Given the description of an element on the screen output the (x, y) to click on. 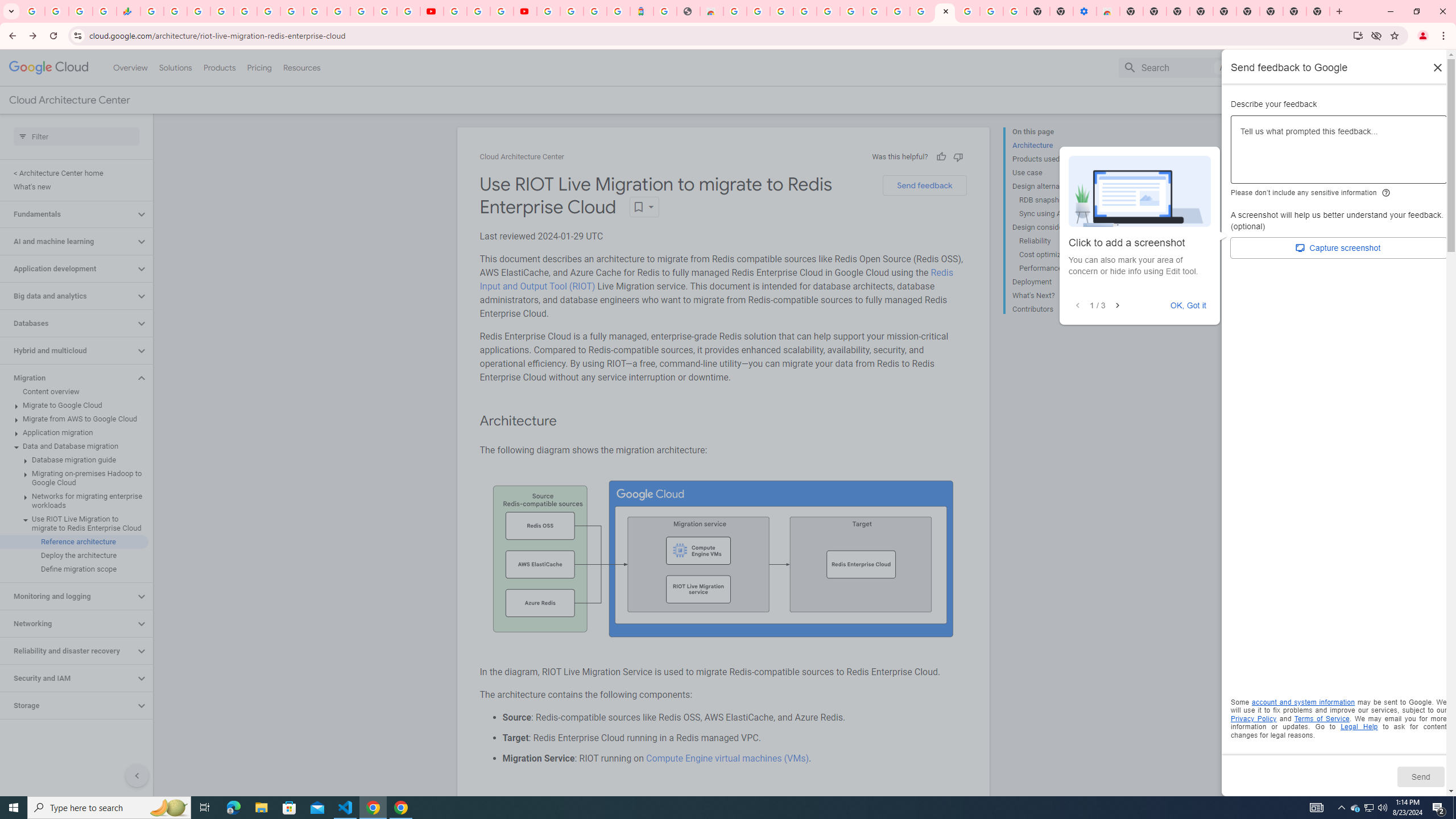
English (1359, 67)
Hide side navigation (136, 775)
What's new (74, 187)
Contributors (1058, 307)
account and system information (1303, 702)
Copy link to this section: Architecture (567, 421)
Resources (301, 67)
New Tab (1271, 11)
RDB snapshots (1062, 200)
Google Workspace Admin Community (32, 11)
